Given the description of an element on the screen output the (x, y) to click on. 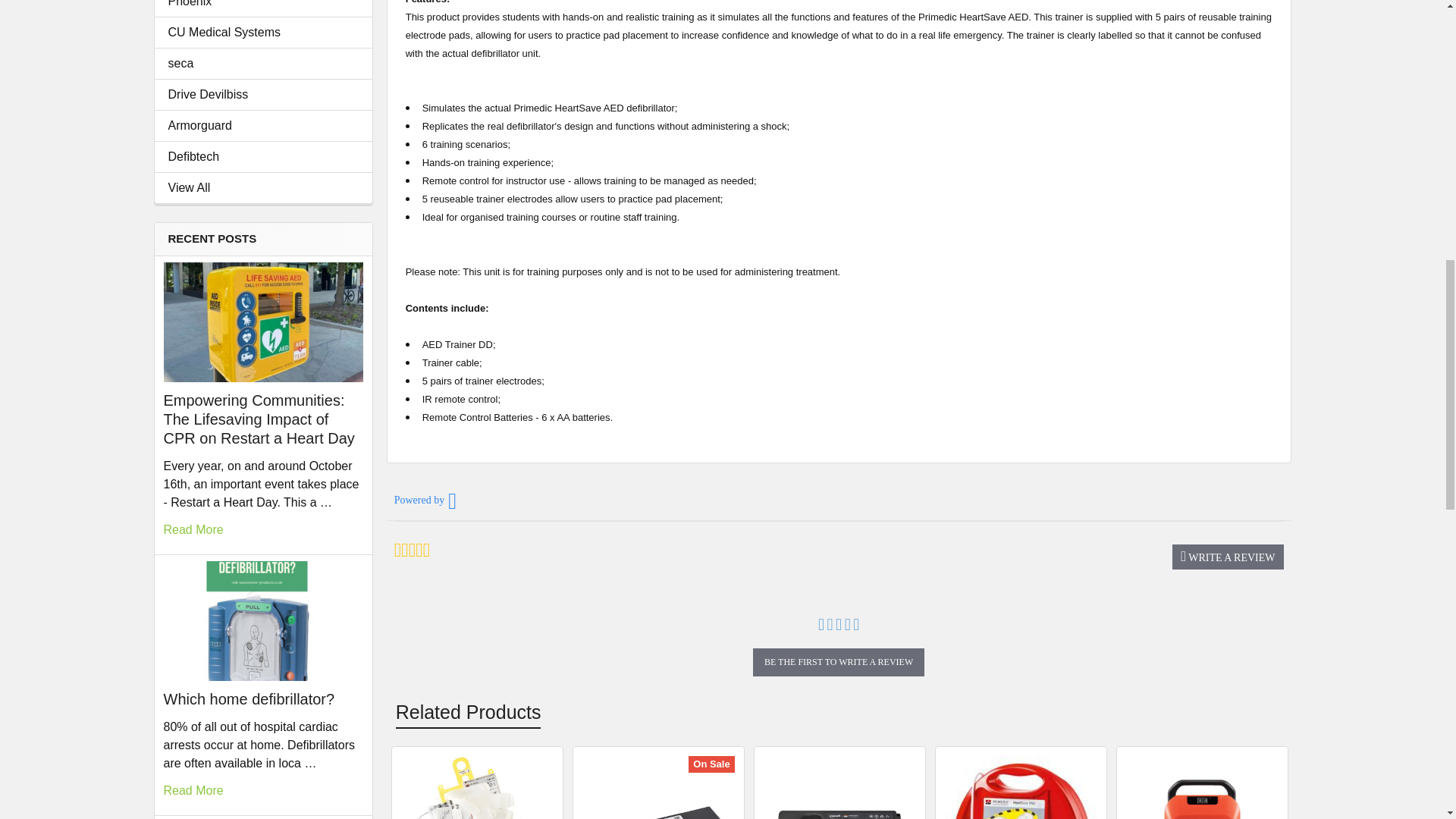
Defibtech (263, 157)
Drive Devilbiss (263, 94)
CU Medical Systems (263, 32)
Armorguard (263, 126)
Phoenix (263, 5)
seca (263, 63)
